Given the description of an element on the screen output the (x, y) to click on. 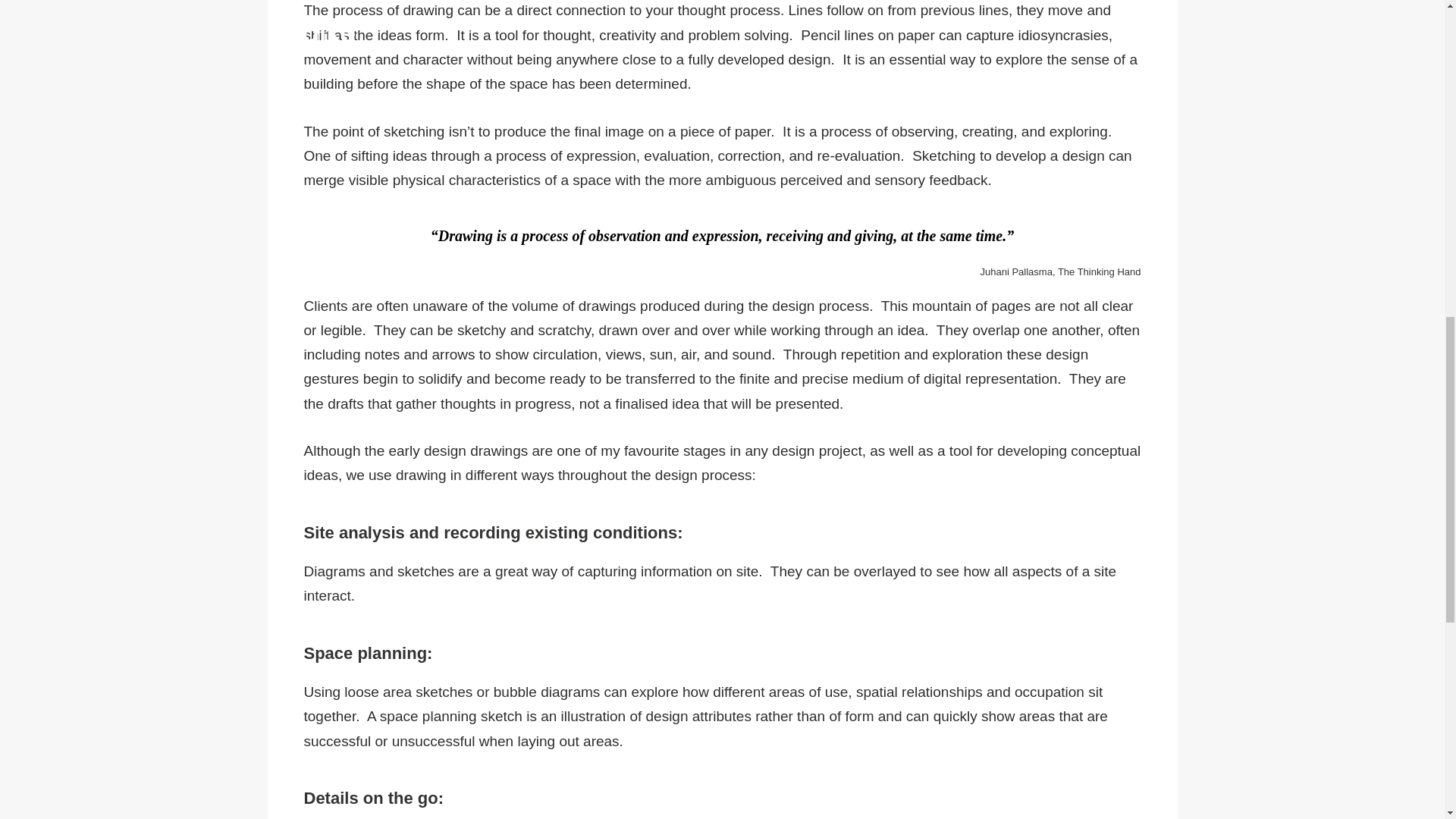
Juhani Pallasma, The Thinking Hand (1060, 271)
